Given the description of an element on the screen output the (x, y) to click on. 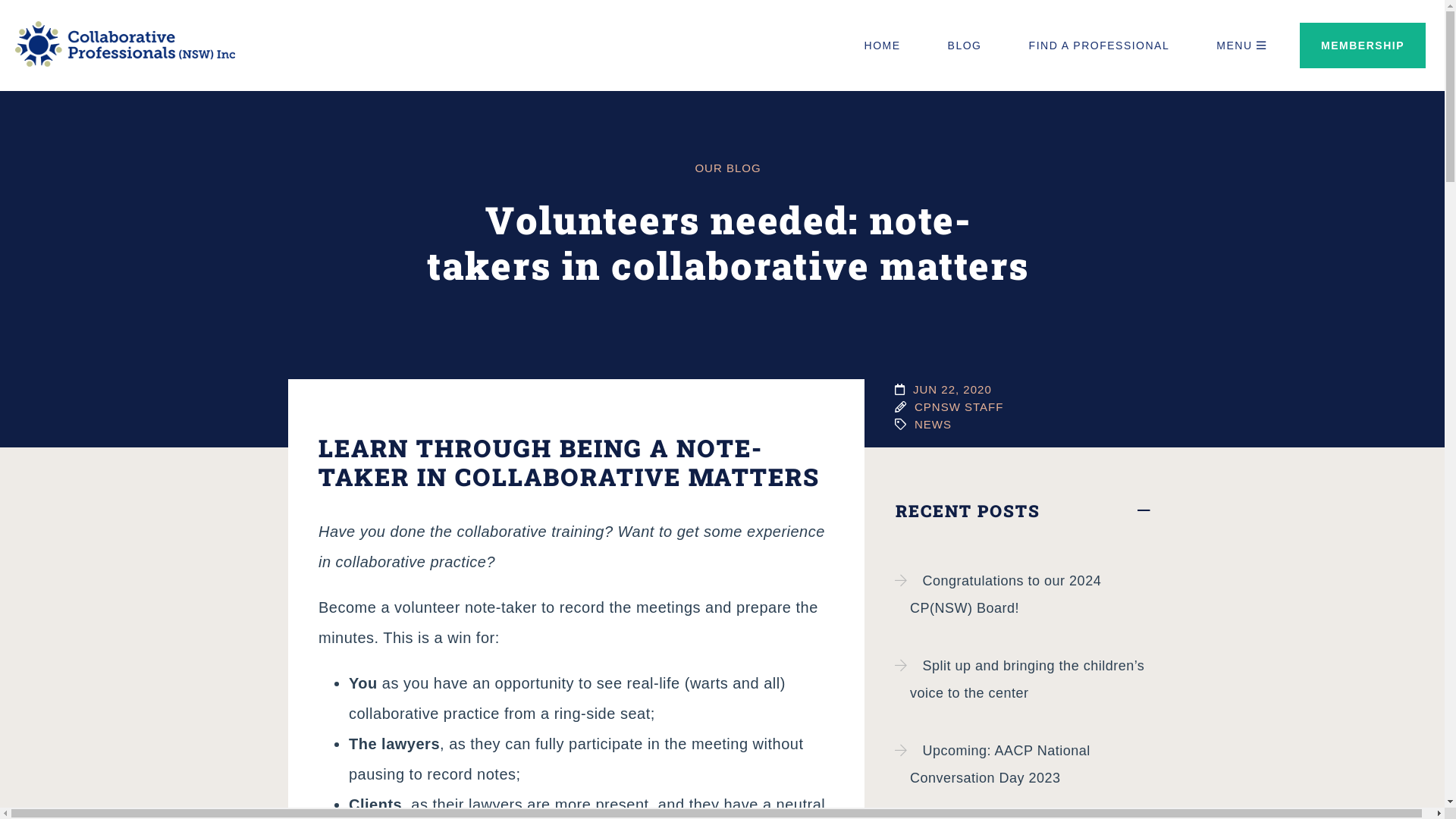
Congratulations to our 2024 CP(NSW) Board! Element type: text (1023, 594)
MEMBERSHIP Element type: text (1362, 45)
FIND A PROFESSIONAL Element type: text (1099, 45)
MENU Element type: text (1241, 45)
HOME Element type: text (882, 45)
Upcoming: AACP National Conversation Day 2023 Element type: text (1023, 763)
BLOG Element type: text (964, 45)
